Given the description of an element on the screen output the (x, y) to click on. 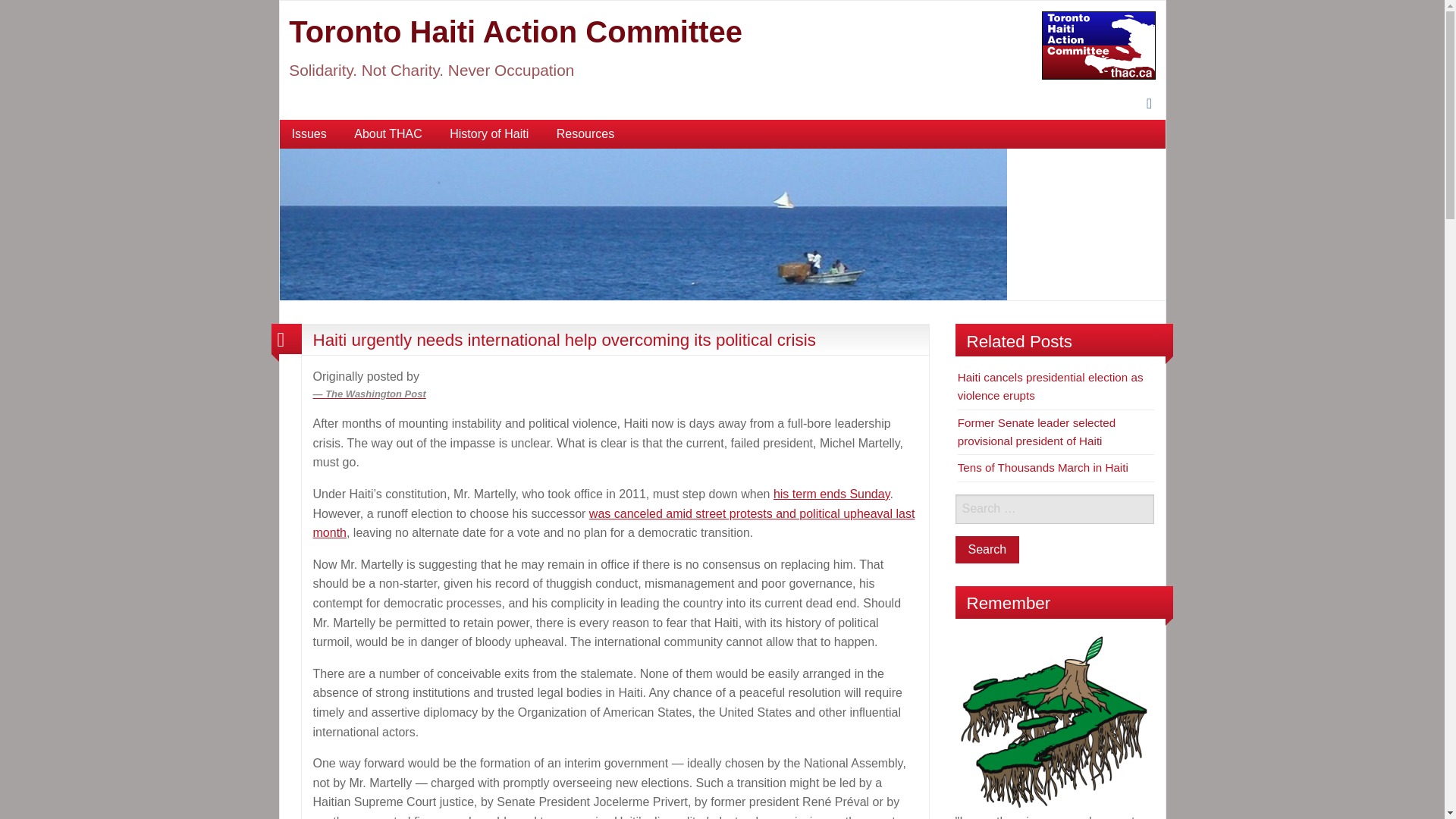
Issues (308, 133)
Former Senate leader selected provisional president of Haiti (1037, 431)
Search (987, 549)
About THAC (387, 133)
his term ends Sunday (831, 493)
Haiti cancels presidential election as violence erupts (1050, 386)
Tens of Thousands March in Haiti (1043, 467)
Facebook (1148, 103)
Resources (585, 133)
Toronto Haiti Action Committee (515, 31)
History of Haiti (489, 133)
Search (987, 549)
The Washington Post (615, 402)
